Given the description of an element on the screen output the (x, y) to click on. 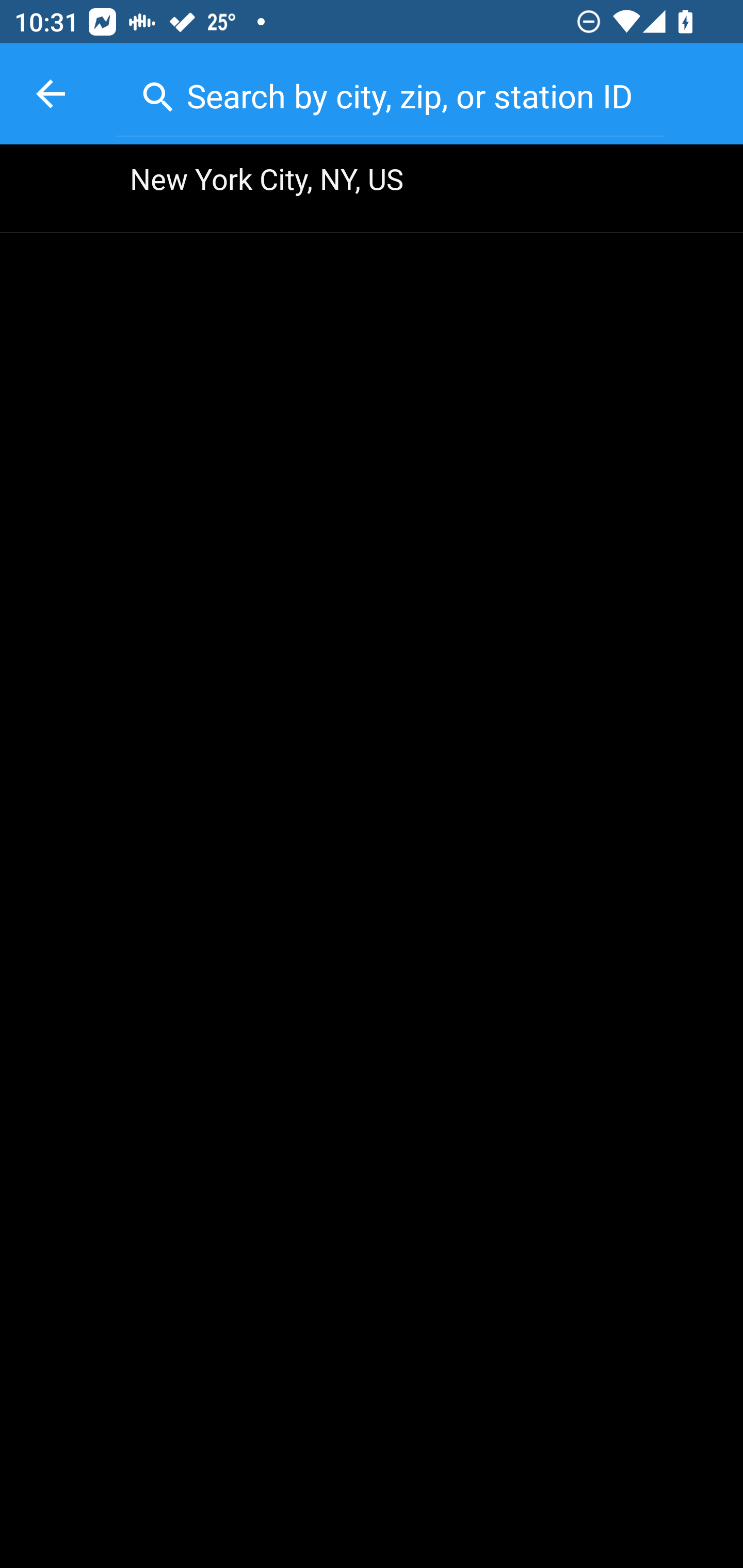
back (50, 93)
   Search by city, zip, or station ID (389, 92)
New York City, NY, US (371, 188)
